Given the description of an element on the screen output the (x, y) to click on. 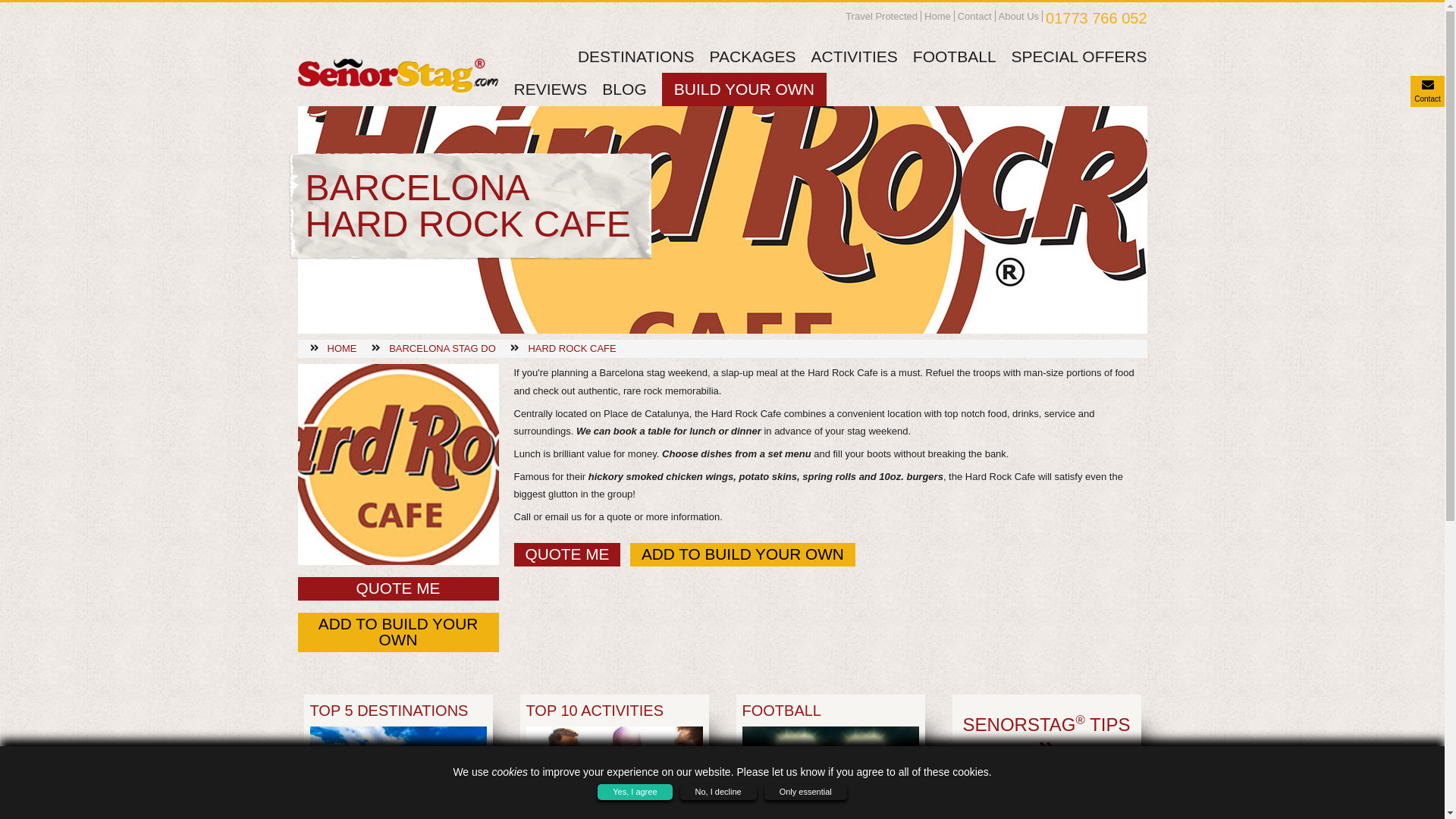
Destinations (324, 546)
HARD ROCK CAFE (571, 348)
FLEXIBLE PAYMENT OPTIONS (1046, 804)
Activities (316, 595)
Contact (974, 16)
PACKAGES (753, 55)
DESTINATIONS (636, 55)
FOOTBALL (953, 55)
SPECIAL OFFERS (1079, 55)
About Us (1018, 16)
